Given the description of an element on the screen output the (x, y) to click on. 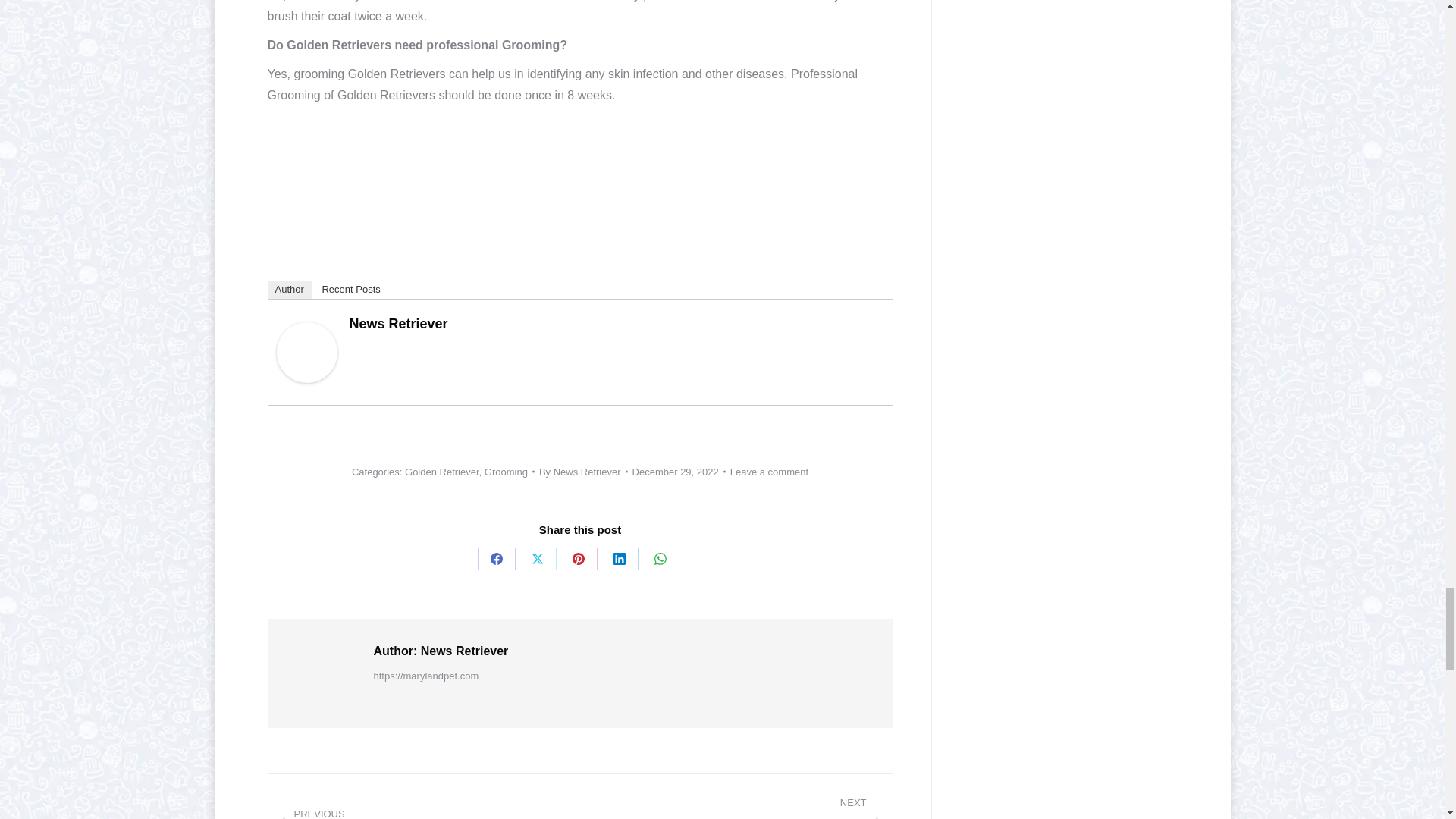
News Retriever (306, 377)
